Given the description of an element on the screen output the (x, y) to click on. 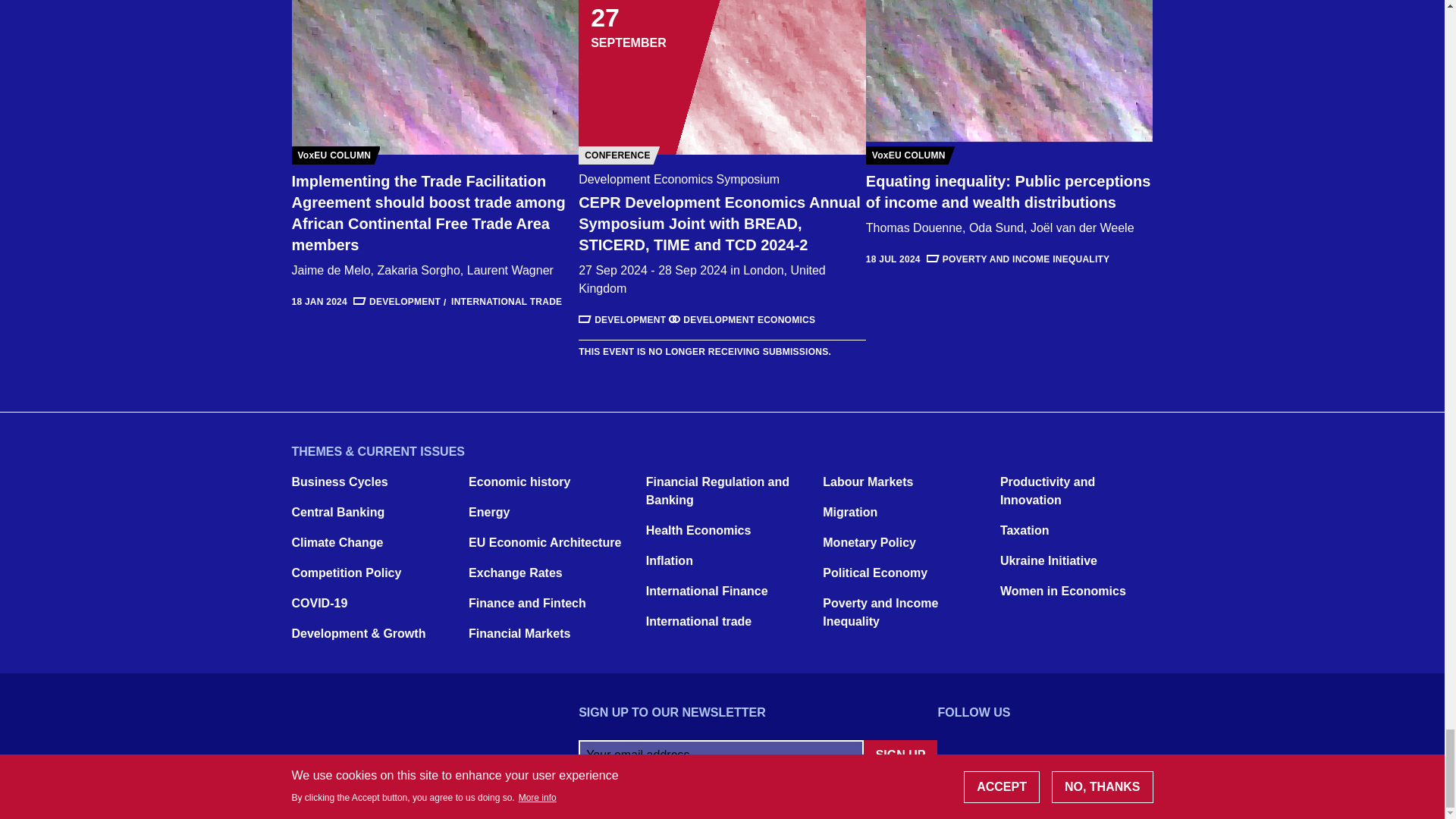
sign up (900, 755)
